Given the description of an element on the screen output the (x, y) to click on. 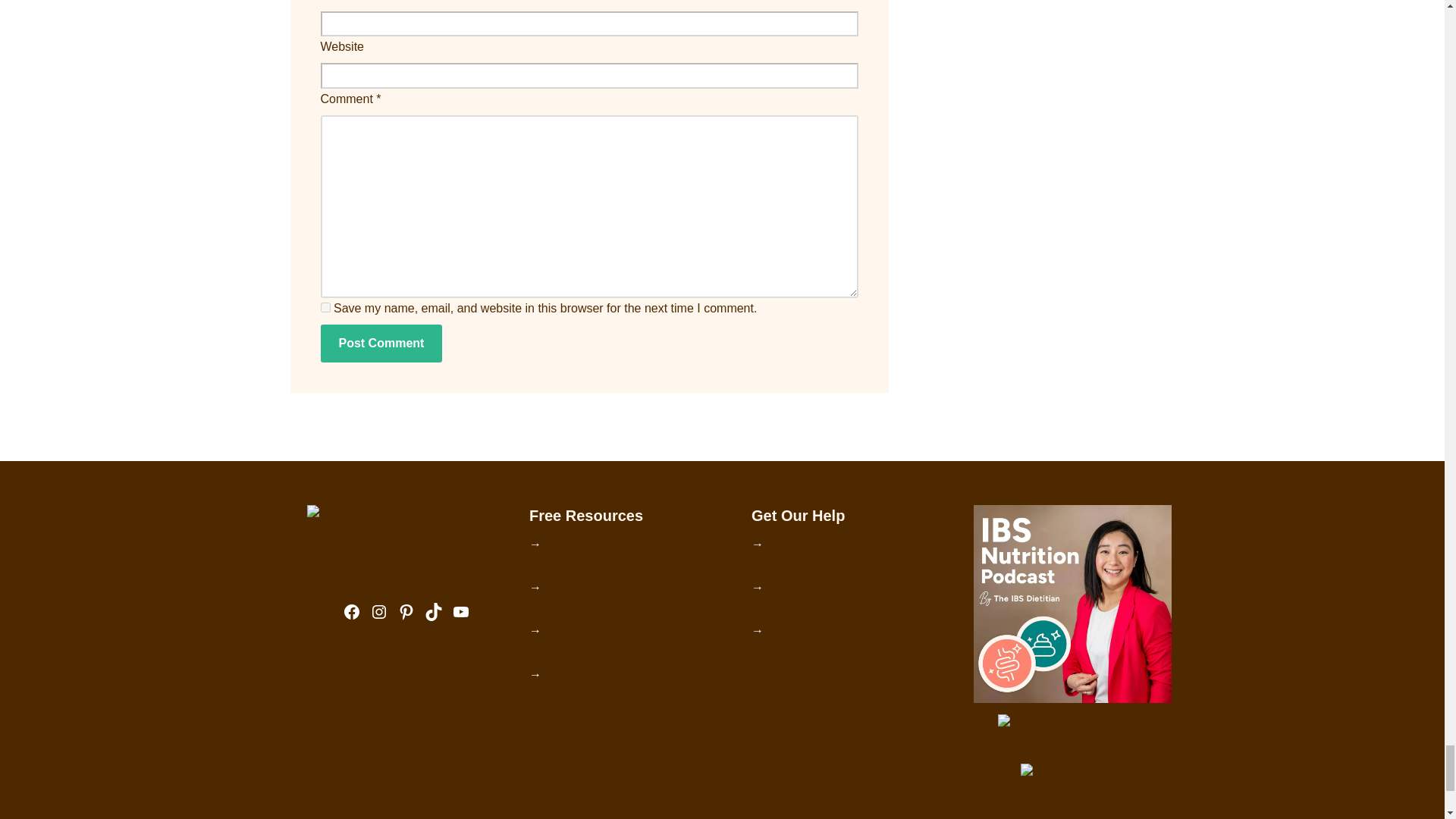
yes (325, 307)
Post Comment (381, 343)
